Given the description of an element on the screen output the (x, y) to click on. 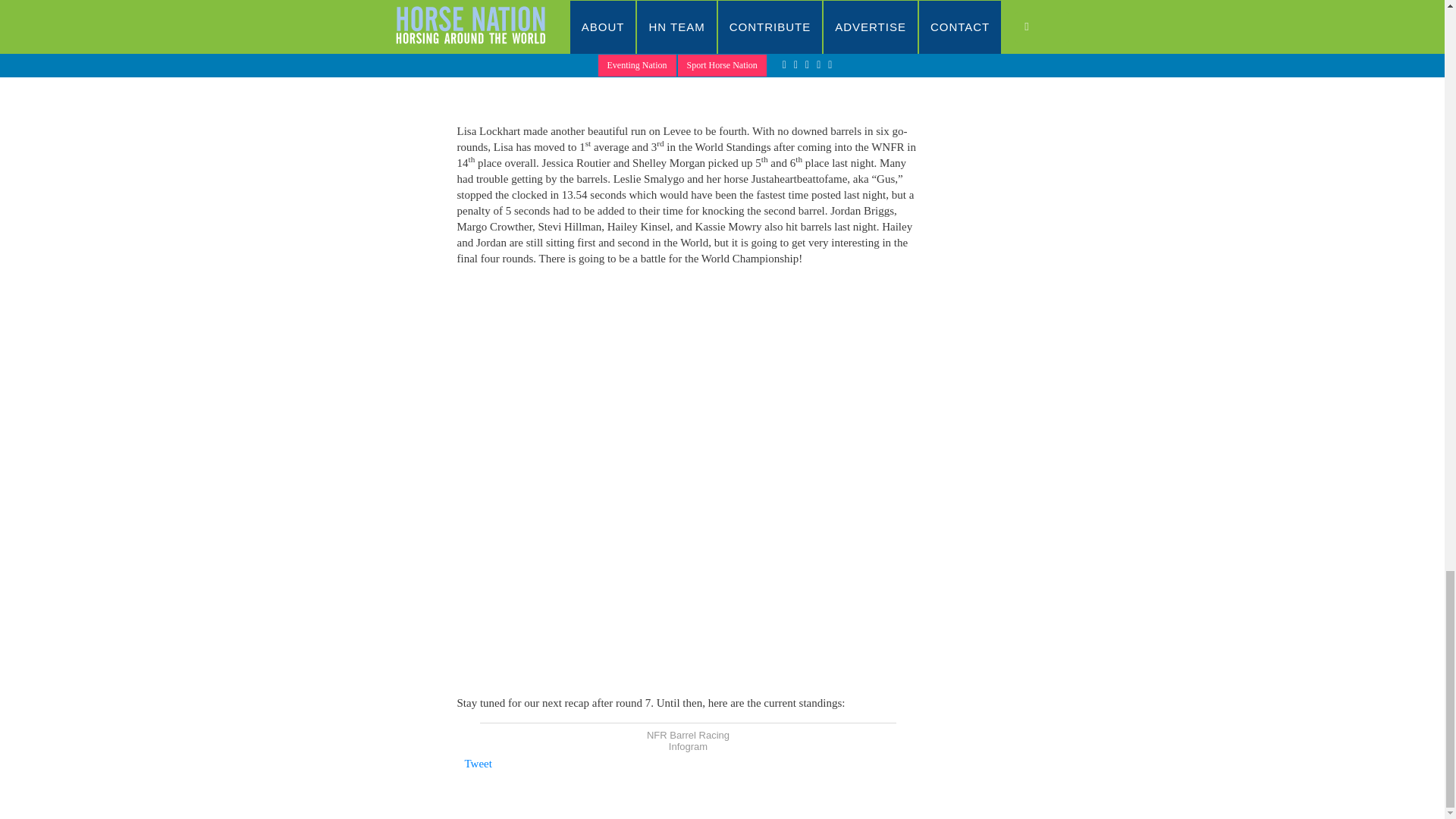
Tweet (478, 763)
Infogram (687, 746)
NFR Barrel Racing (687, 735)
